Given the description of an element on the screen output the (x, y) to click on. 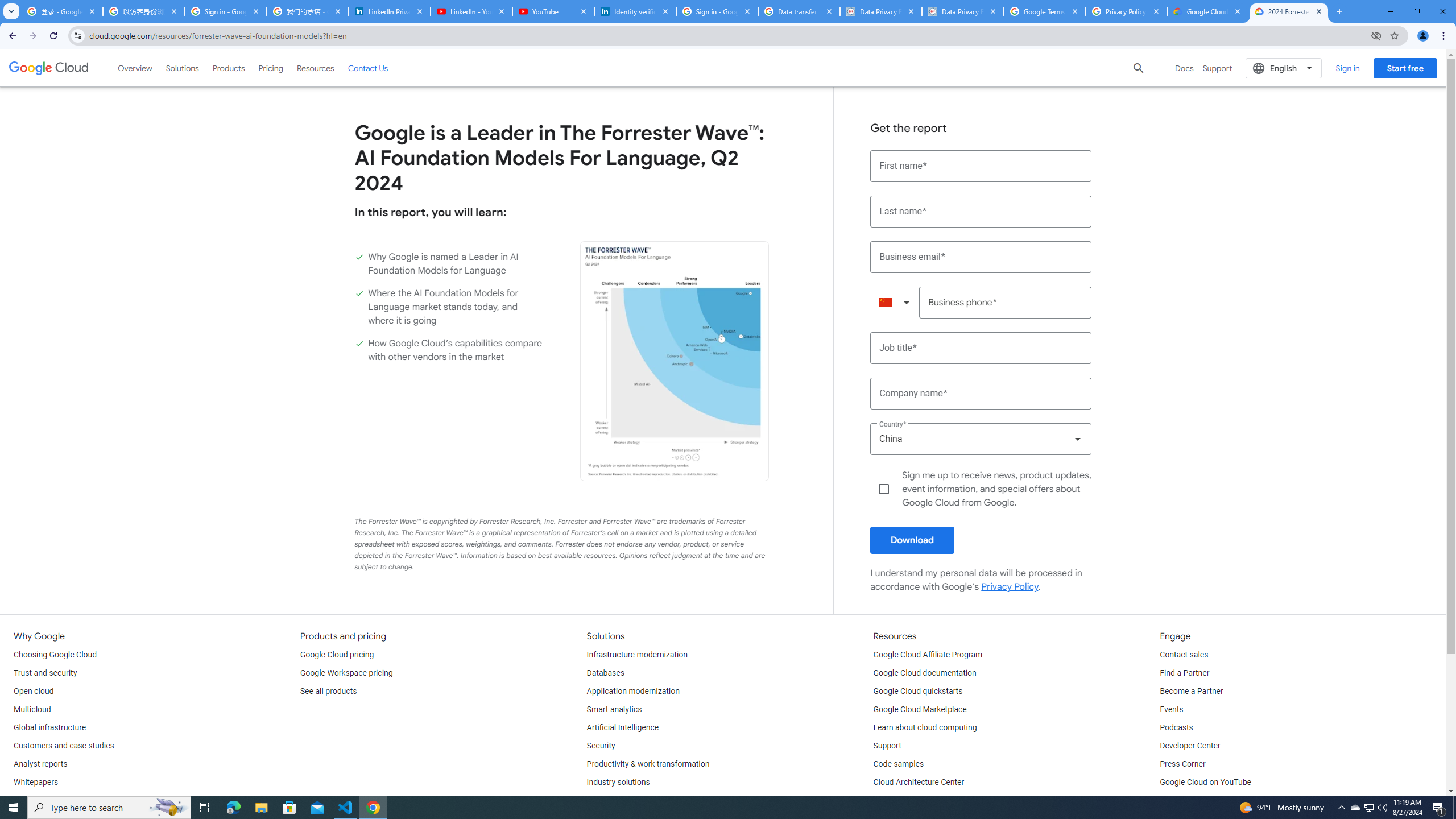
Developer Center (1189, 746)
Databases (605, 673)
Sign in - Google Accounts (225, 11)
Google Cloud Affiliate Program (927, 655)
Customers and case studies (64, 746)
Start free (1405, 67)
Support (887, 746)
Cloud Architecture Center (918, 782)
Data Privacy Framework (880, 11)
LinkedIn Privacy Policy (389, 11)
Security (600, 746)
Google Workspace pricing (346, 673)
